Given the description of an element on the screen output the (x, y) to click on. 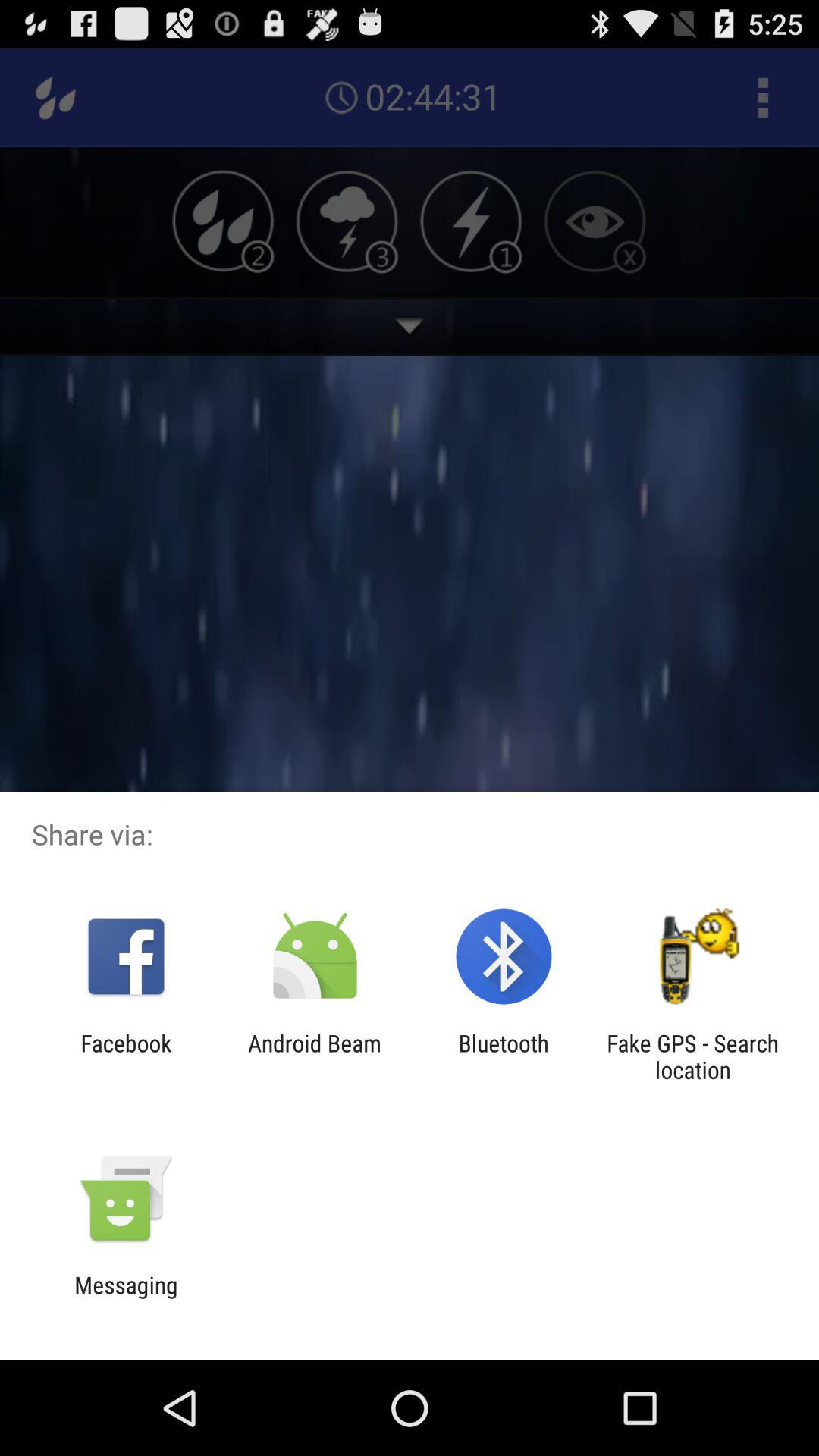
press the icon to the right of the facebook (314, 1056)
